Given the description of an element on the screen output the (x, y) to click on. 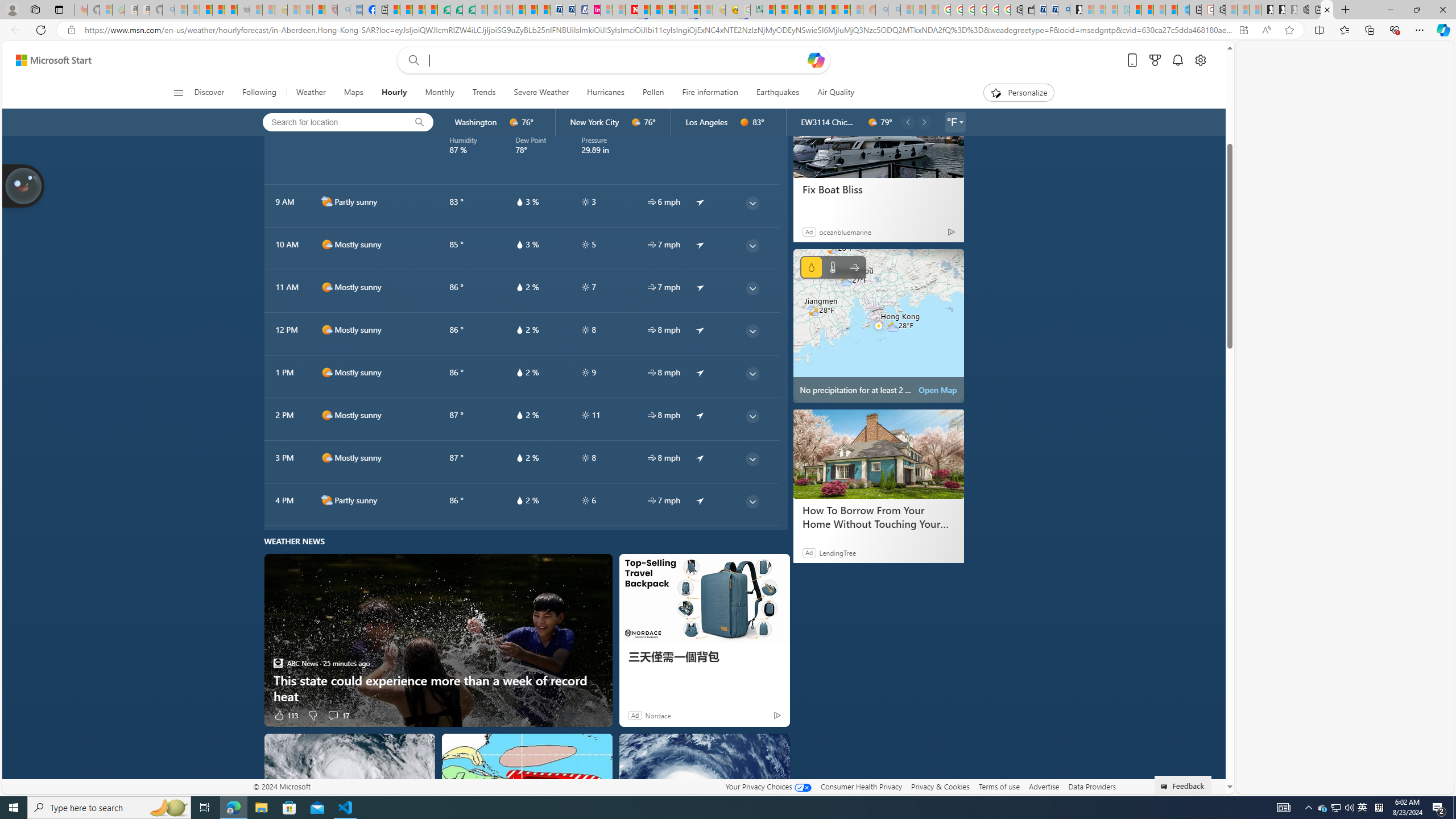
View comments 17 Comment (333, 715)
d2000 (326, 500)
Pollen (652, 92)
